Given the description of an element on the screen output the (x, y) to click on. 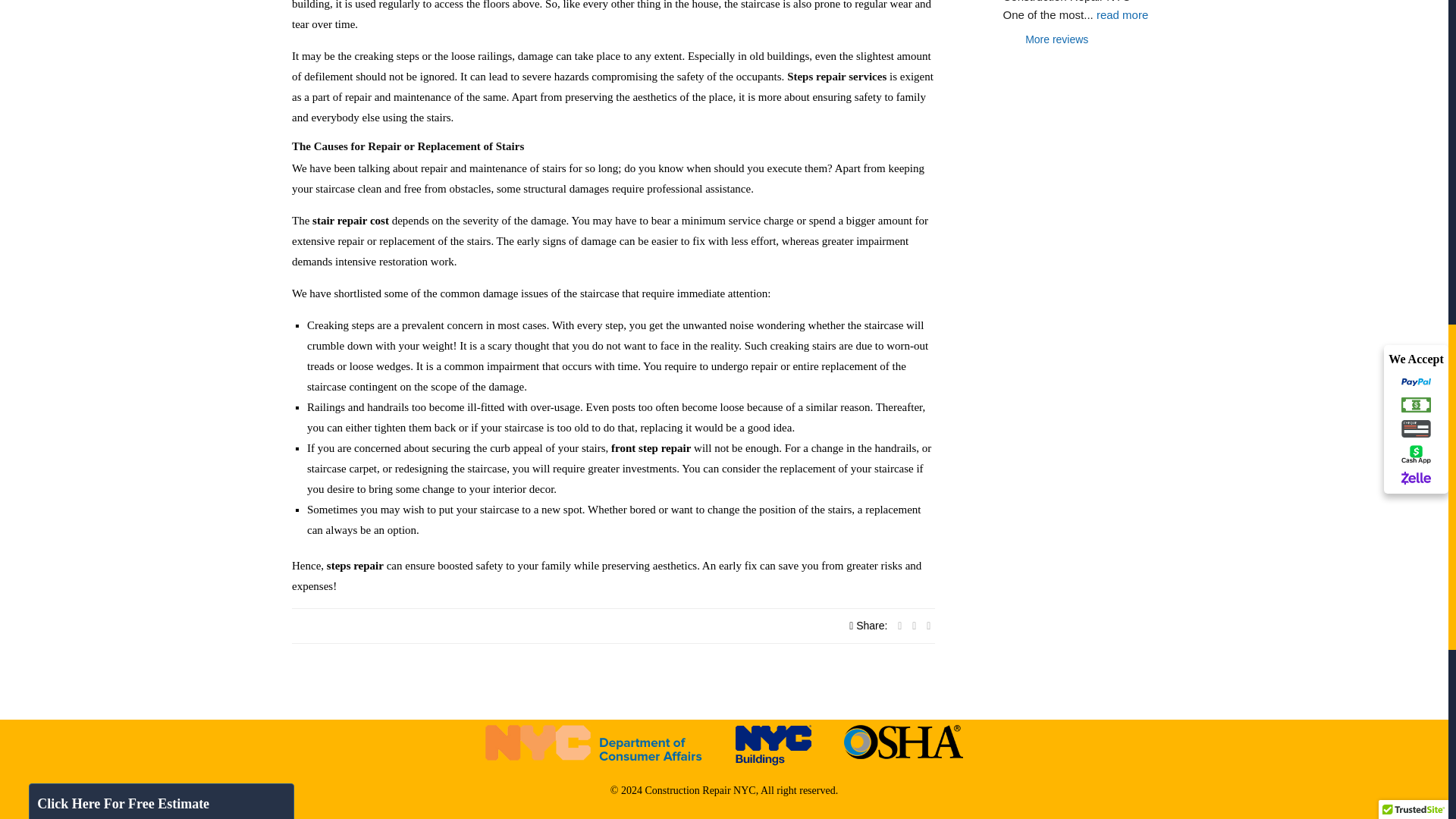
Residential (178, 277)
Commercial (92, 277)
SUBMIT (129, 500)
Other (184, 298)
Industrial (112, 298)
